Given the description of an element on the screen output the (x, y) to click on. 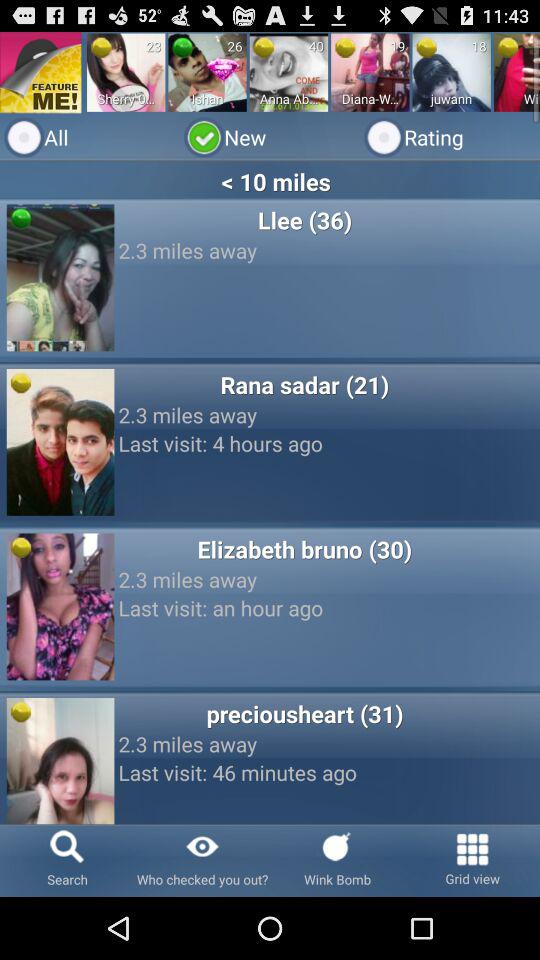
swipe to llee (36) item (304, 219)
